Given the description of an element on the screen output the (x, y) to click on. 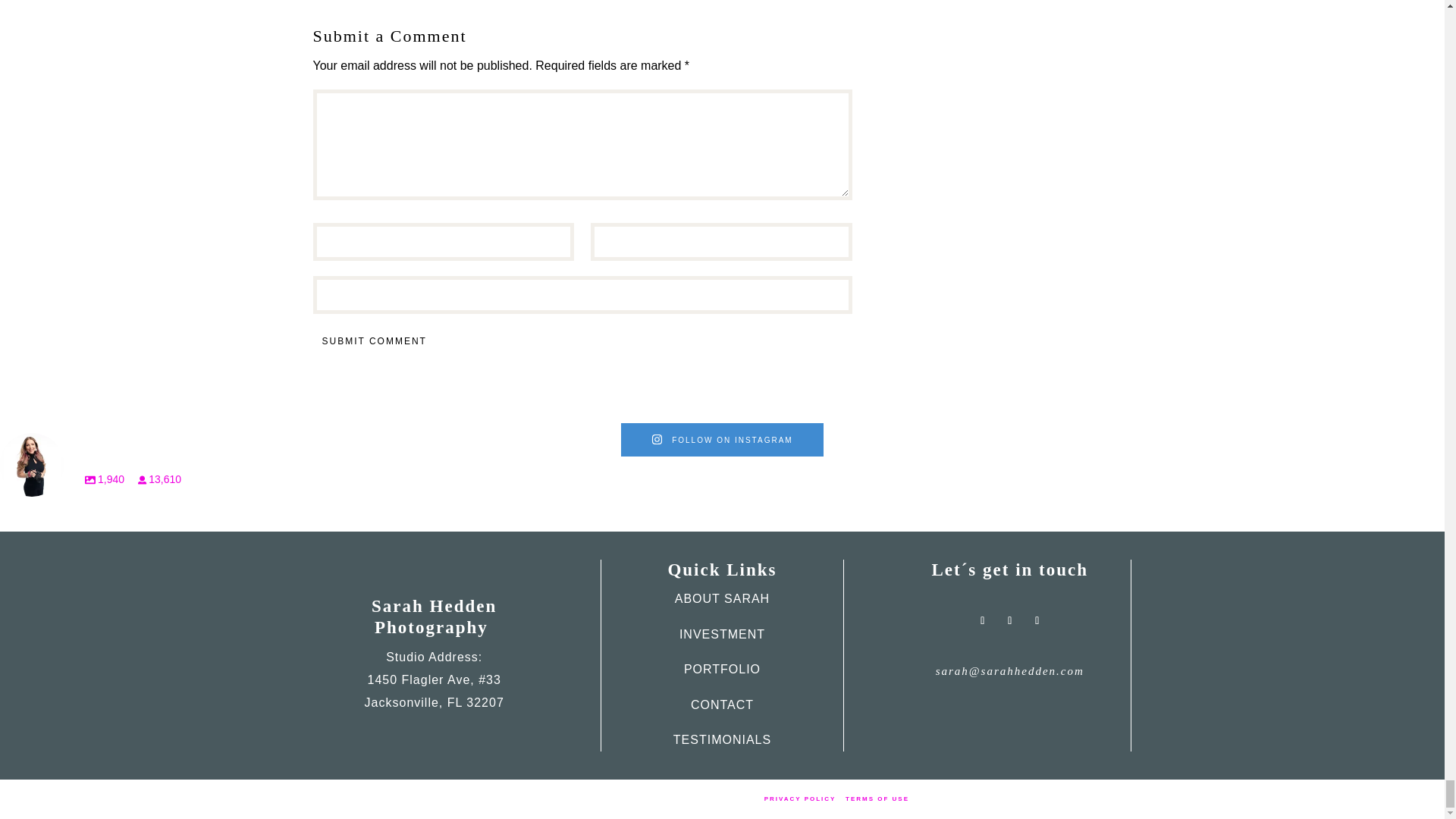
Submit Comment (374, 341)
